Given the description of an element on the screen output the (x, y) to click on. 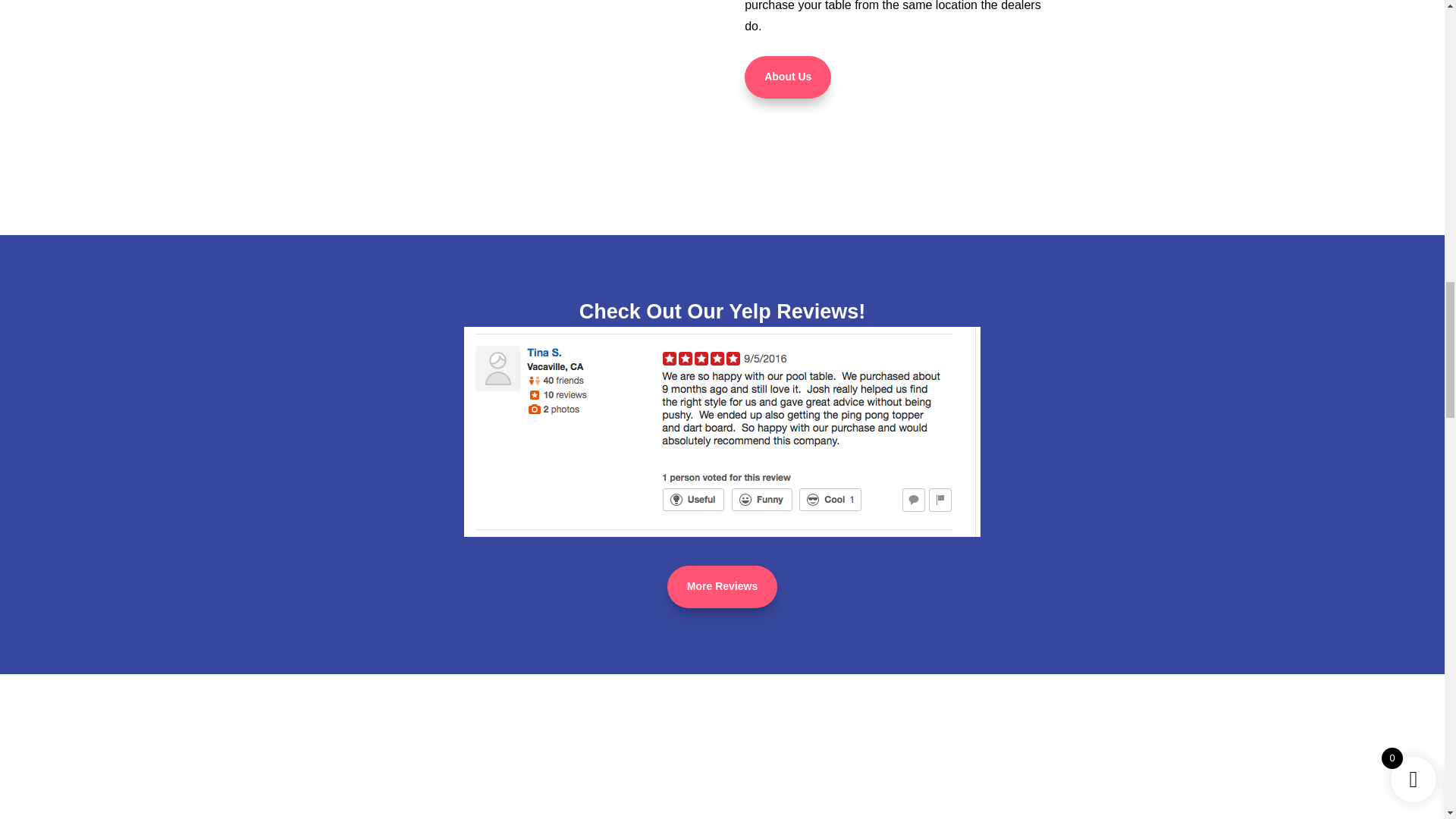
About Us (787, 77)
More Reviews (721, 586)
